Given the description of an element on the screen output the (x, y) to click on. 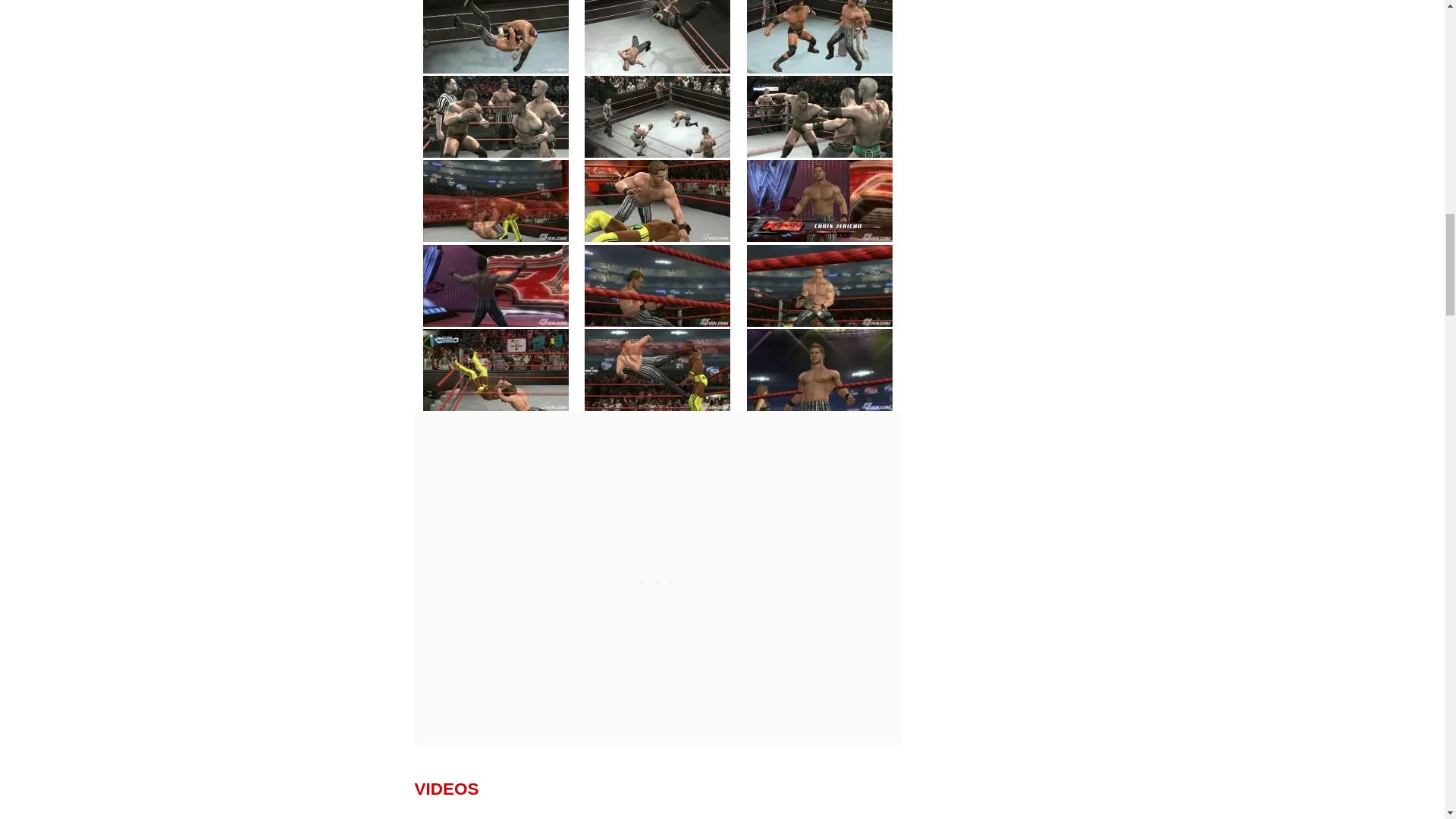
0 (819, 369)
0 (495, 285)
0 (657, 200)
0 (495, 369)
0 (657, 285)
0 (819, 116)
0 (819, 285)
0 (657, 116)
0 (819, 37)
0 (495, 37)
0 (495, 200)
0 (819, 200)
0 (657, 37)
0 (495, 116)
0 (657, 369)
